Given the description of an element on the screen output the (x, y) to click on. 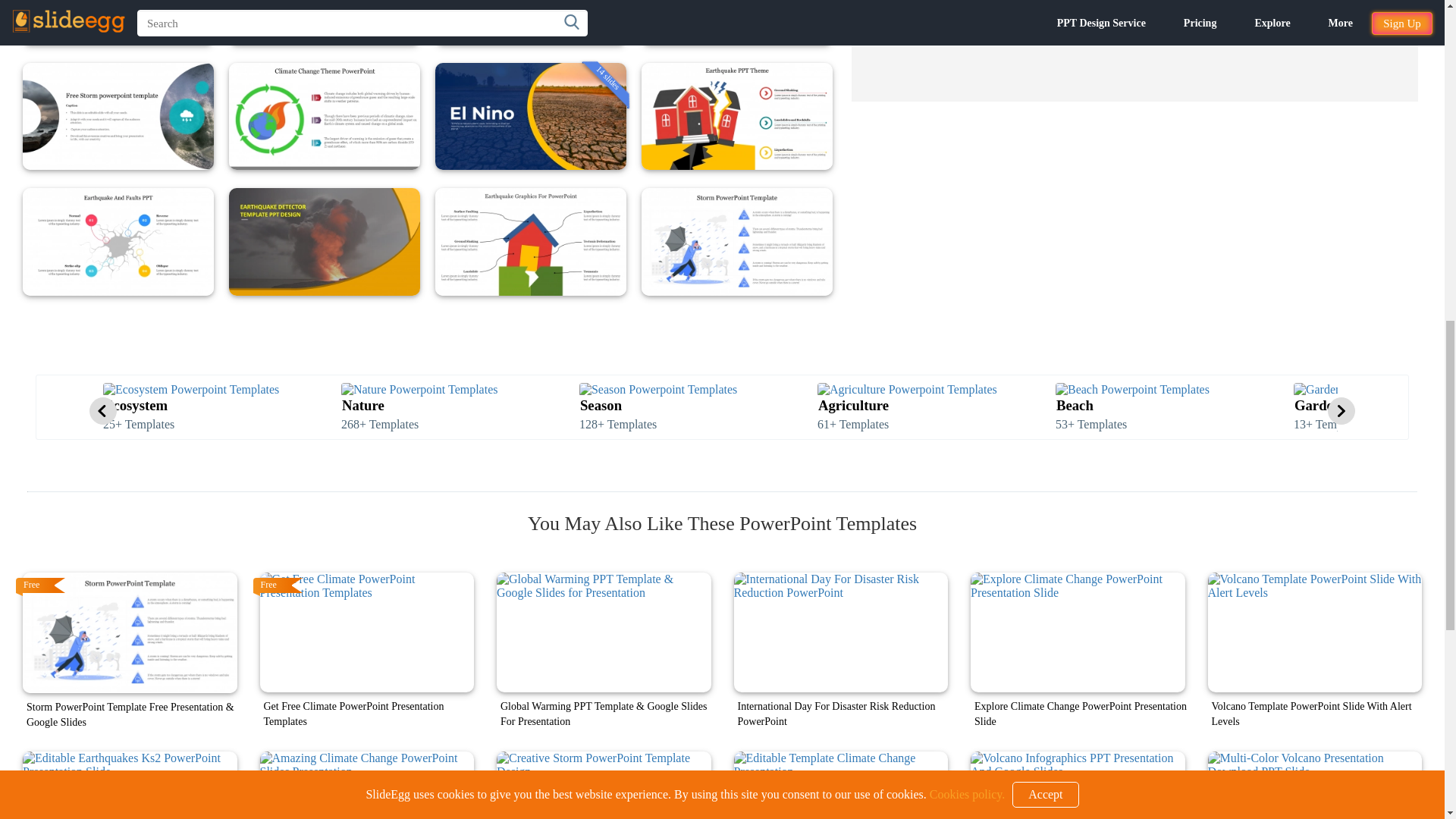
Advertisement (1134, 50)
Editable Template Climate Change Presentation  (841, 785)
Editable Earthquakes Ks2 PowerPoint Presentation Slide  (130, 785)
Get Free Climate PowerPoint Presentation Templates (366, 632)
Volcano Infographics PPT Presentation And Google Slides (1078, 785)
Creative Storm PowerPoint Template Design (603, 785)
Explore Climate Change PowerPoint Presentation Slide (1078, 632)
International Day For Disaster Risk Reduction PowerPoint  (841, 632)
Amazing Climate Change PowerPoint Slides Presentation (366, 785)
